Given the description of an element on the screen output the (x, y) to click on. 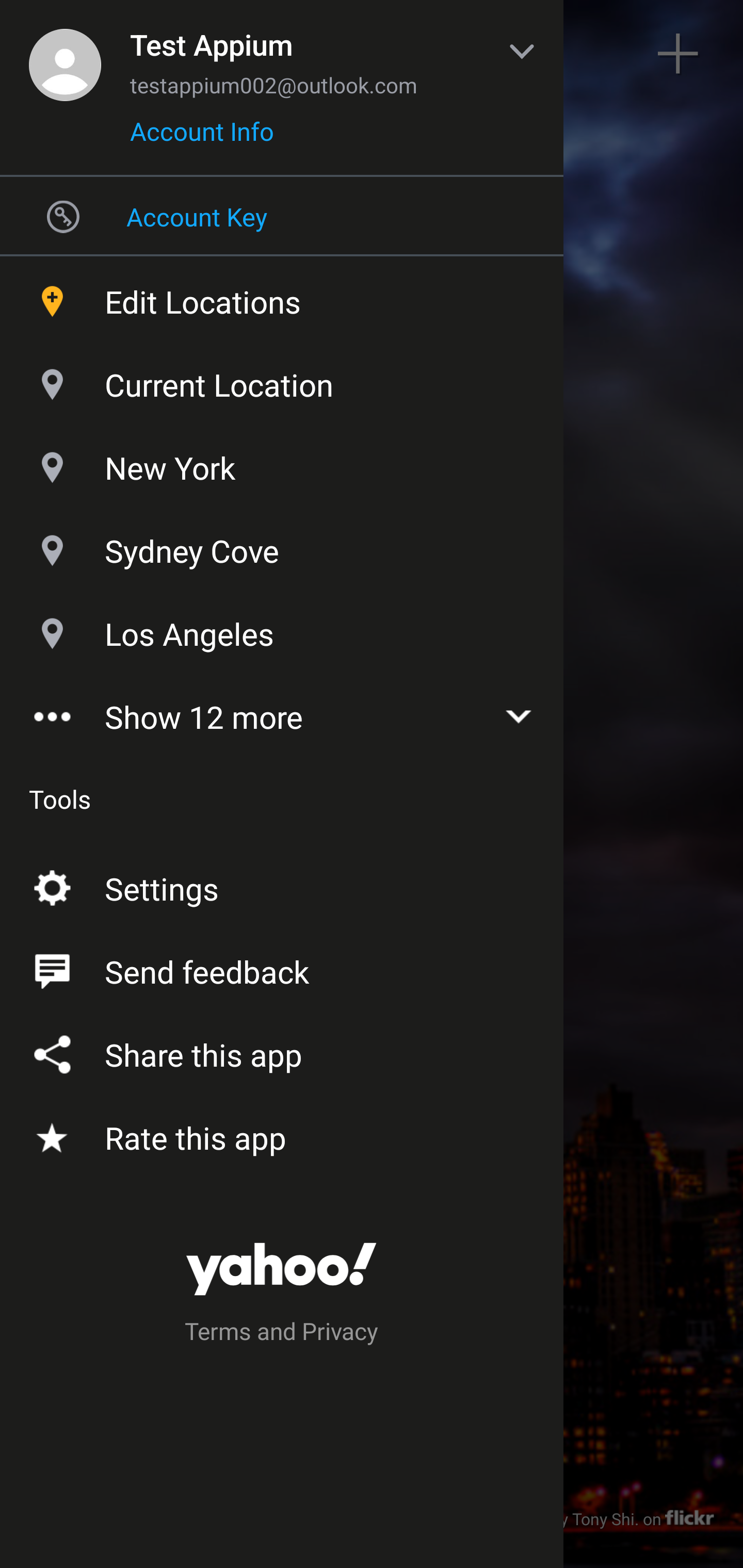
Sidebar (64, 54)
Account Info (202, 137)
Account Key (281, 216)
Edit Locations (281, 296)
Current Location (281, 379)
New York (281, 462)
Sydney Cove (281, 546)
Los Angeles (281, 629)
Settings (281, 884)
Send feedback (281, 967)
Share this app (281, 1050)
Terms and Privacy Terms and privacy button (281, 1334)
